Given the description of an element on the screen output the (x, y) to click on. 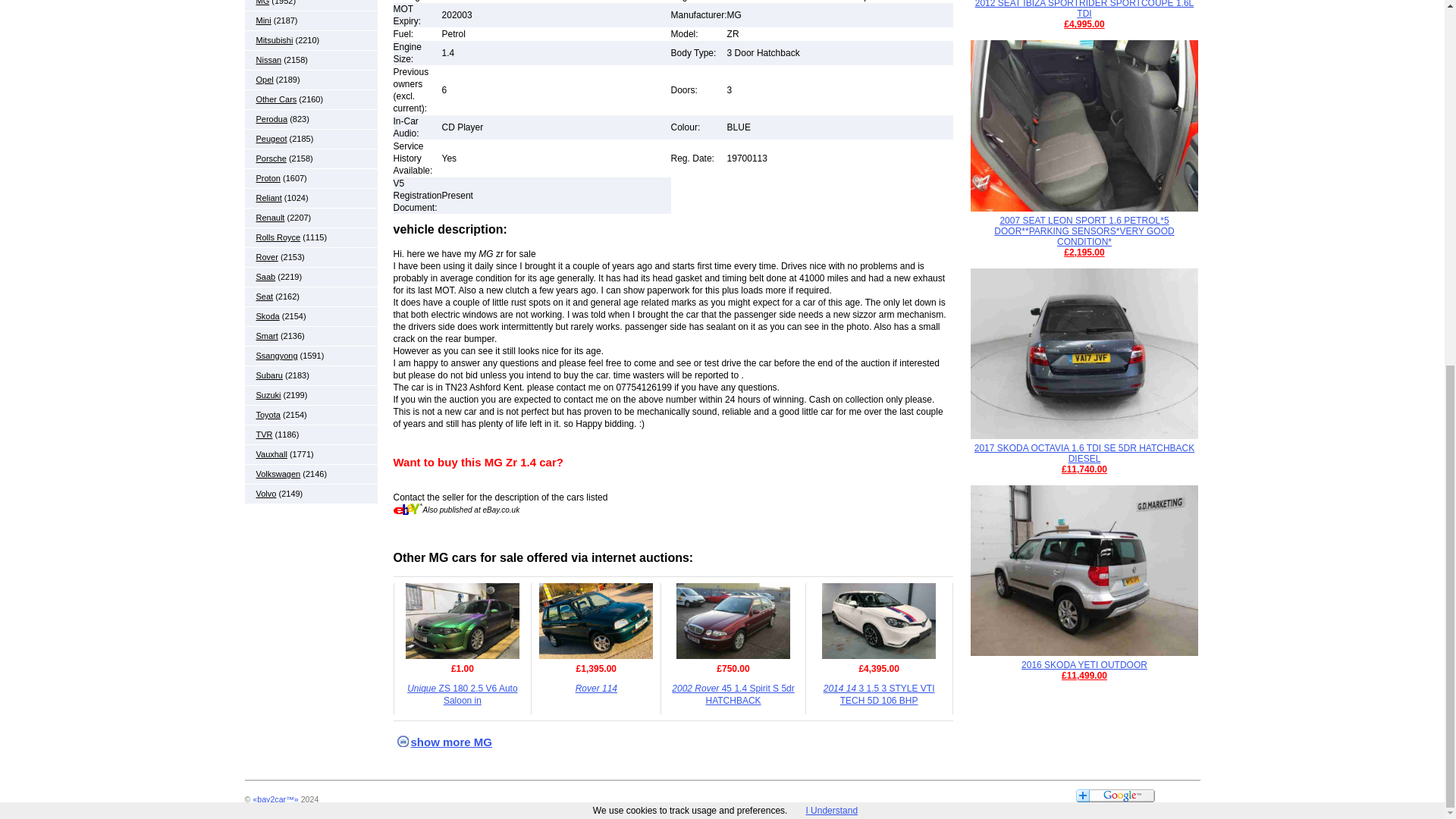
Other Cars (276, 99)
Mini (263, 20)
MG (262, 2)
Perodua (272, 118)
Nissan (269, 59)
Mitsubishi (275, 40)
Opel (264, 79)
